Given the description of an element on the screen output the (x, y) to click on. 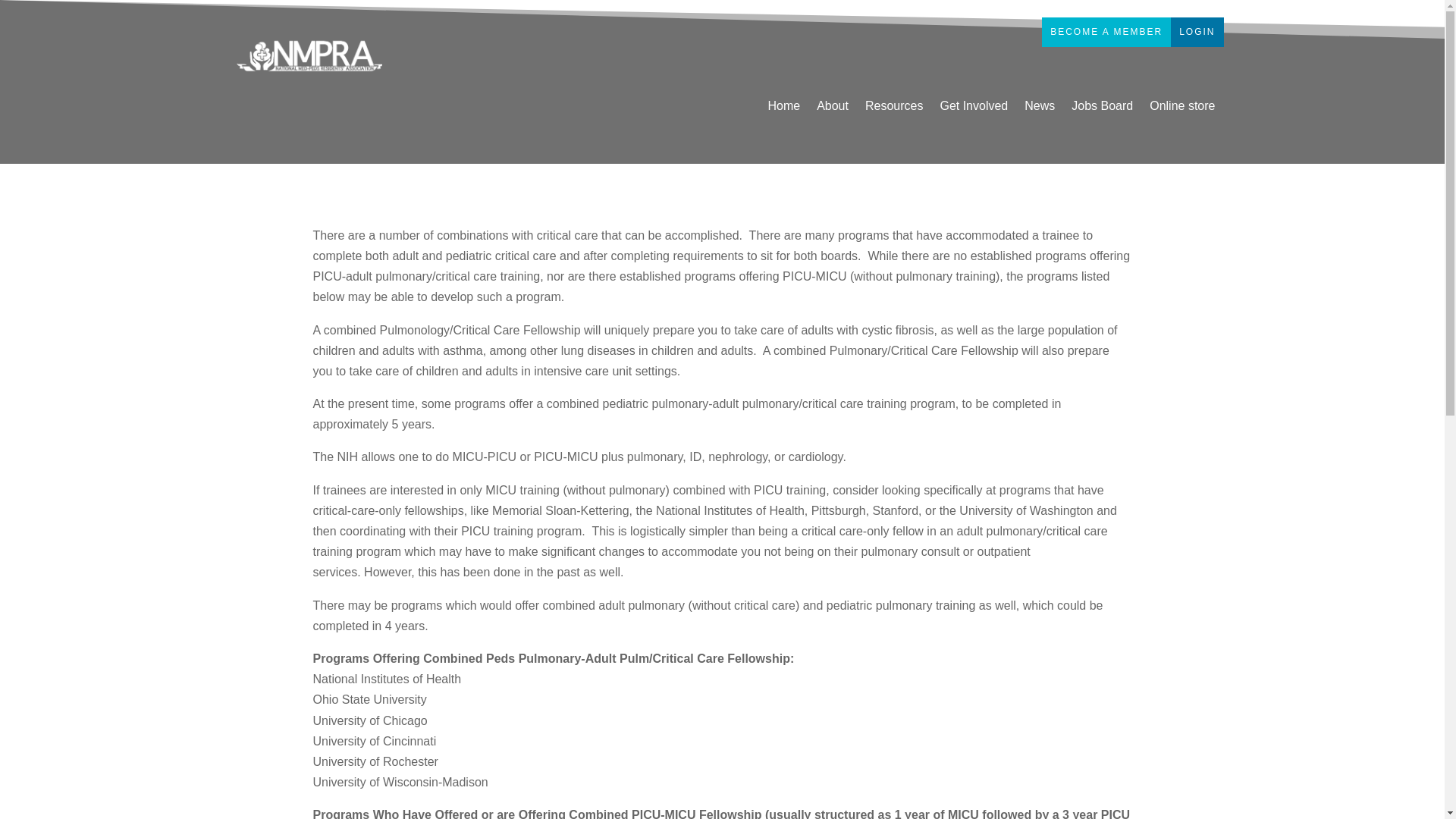
NMPRALogo-1 (308, 54)
